Given the description of an element on the screen output the (x, y) to click on. 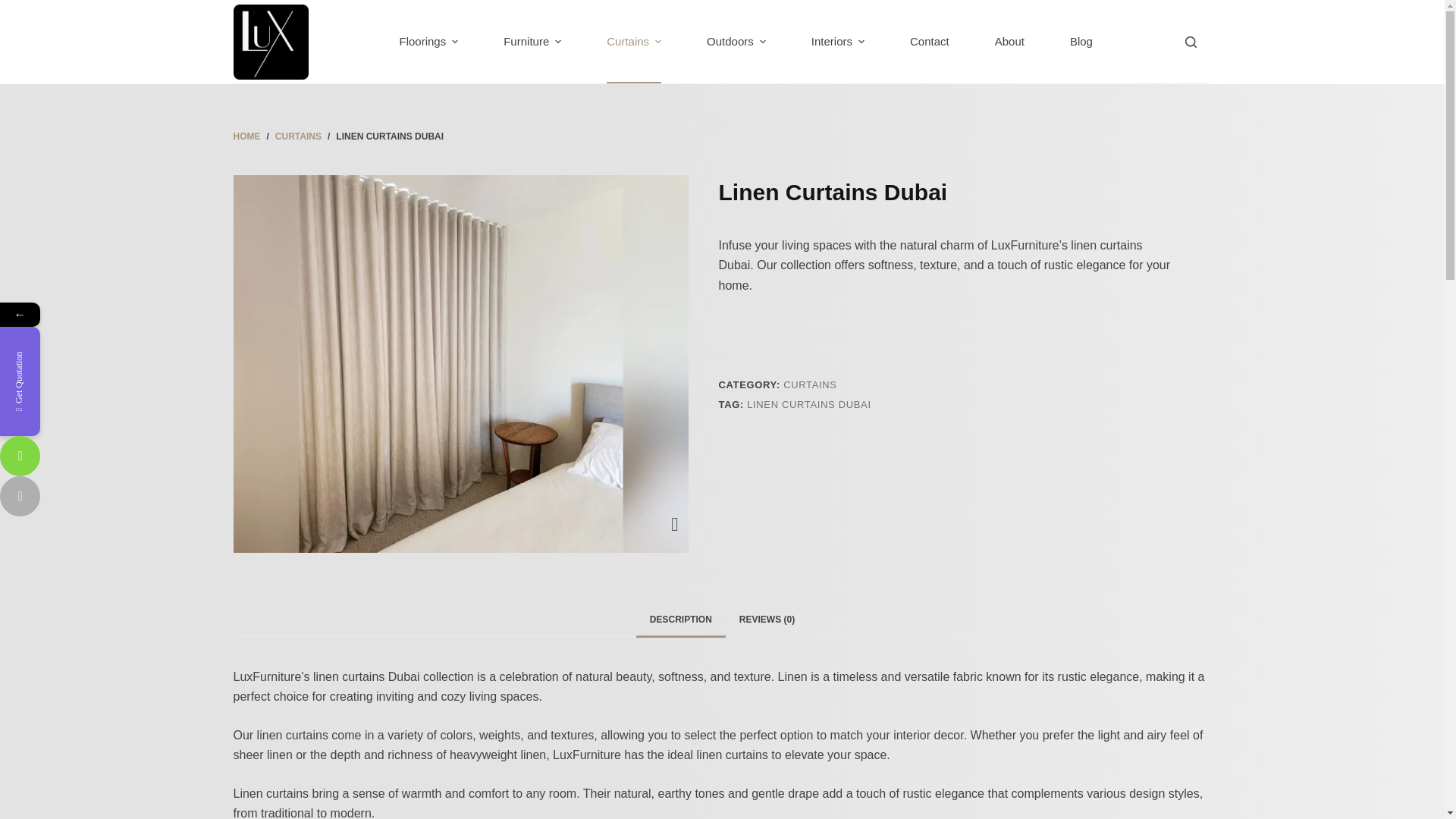
WhatsApp (92, 455)
Phone (92, 495)
WhatsApp (20, 455)
Skip to content (15, 7)
Phone (20, 495)
